Given the description of an element on the screen output the (x, y) to click on. 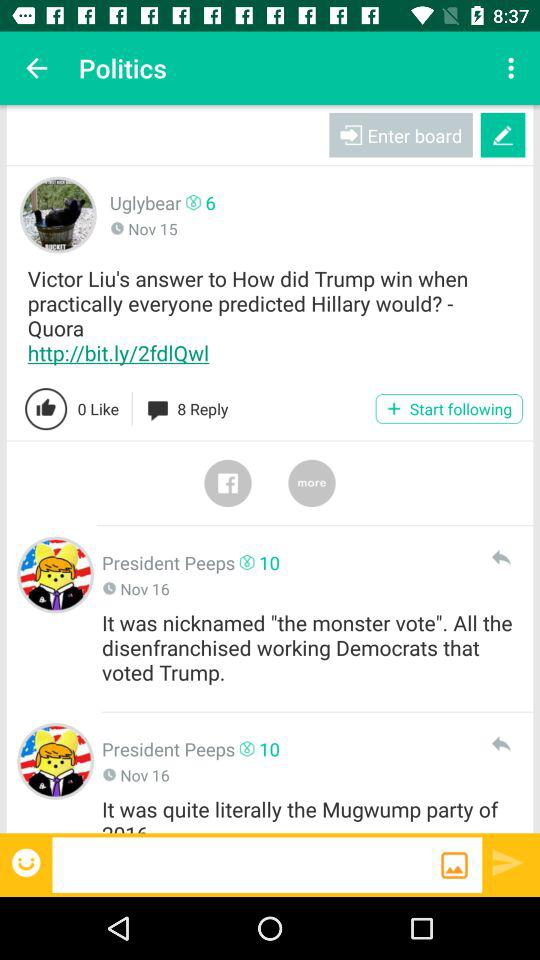
share to facebook (228, 483)
